Given the description of an element on the screen output the (x, y) to click on. 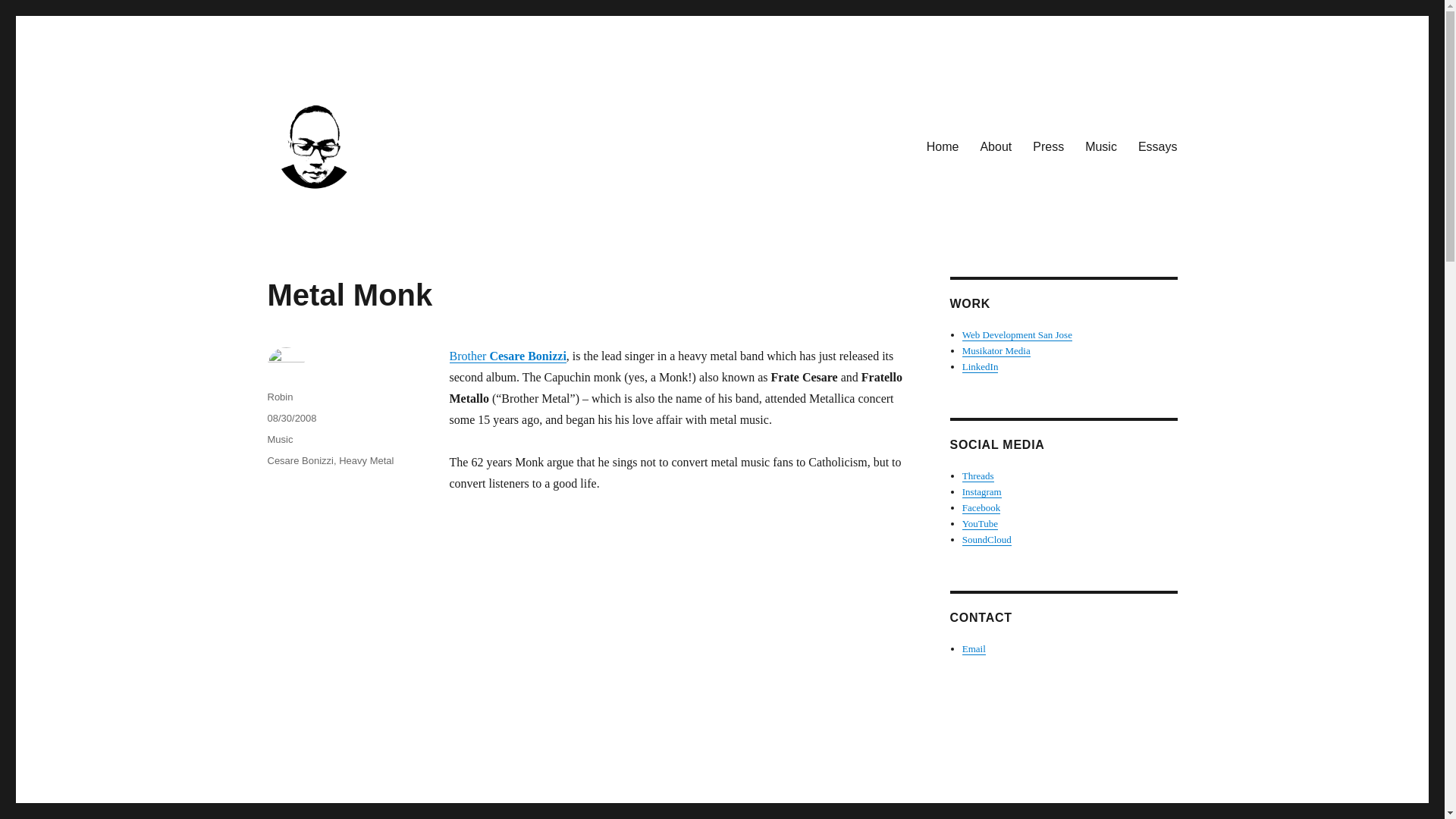
Music (1100, 146)
Musikator Media (996, 350)
Home (942, 146)
Music (279, 439)
SoundCloud (986, 539)
LinkedIn (980, 366)
Brother Cesare Bonizzi (507, 355)
Facebook (981, 507)
Press (1048, 146)
Heavy Metal (366, 460)
Threads (978, 475)
Essays (1157, 146)
Web Development San Jose (1016, 334)
Instagram (981, 491)
Robin (279, 396)
